Given the description of an element on the screen output the (x, y) to click on. 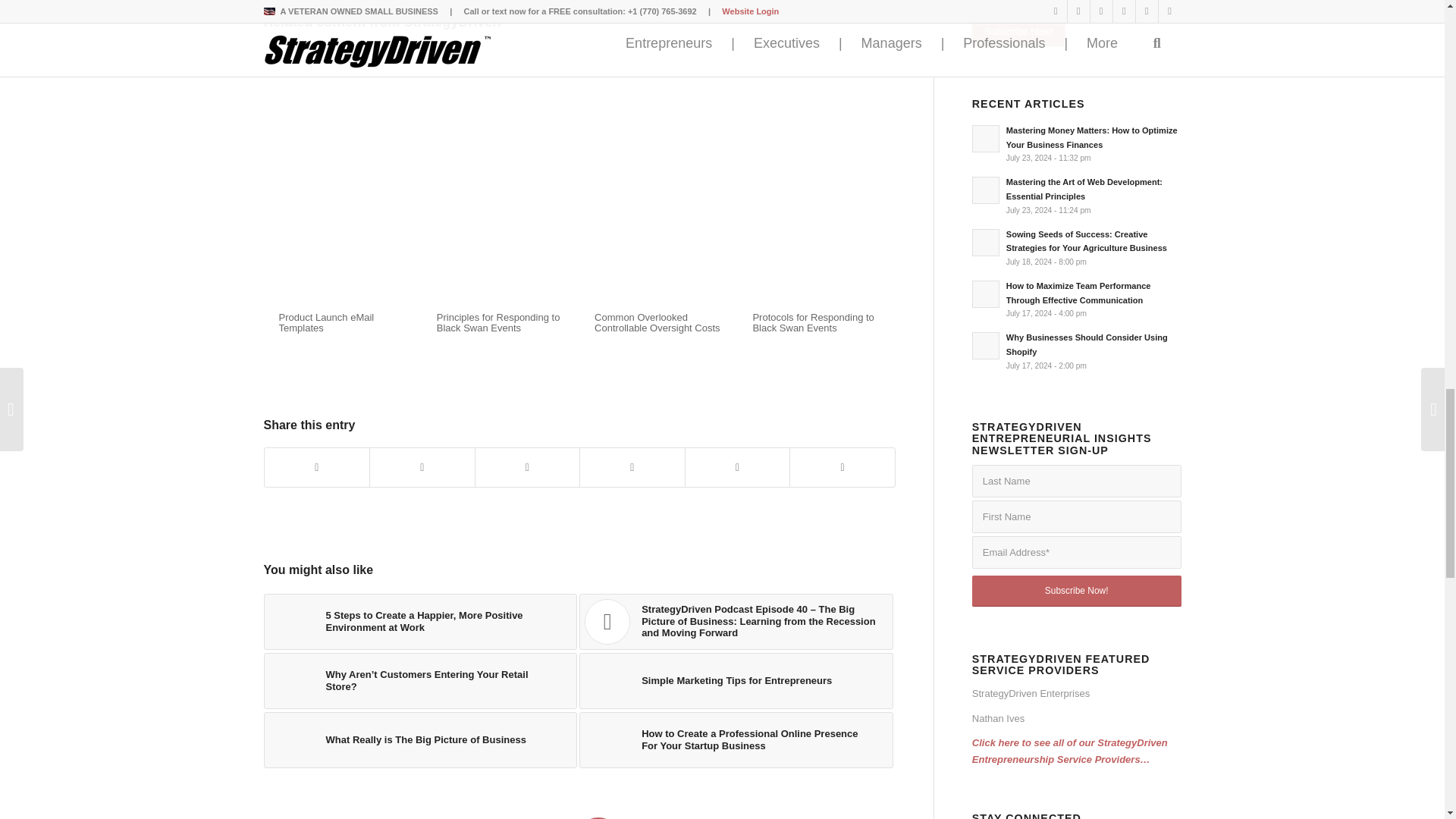
Common Overlooked Controllable Oversight Costs (656, 322)
Product Launch eMail Templates (326, 322)
Subscribe Now! (1076, 590)
Principles for Responding to Black Swan Events (498, 322)
